Given the description of an element on the screen output the (x, y) to click on. 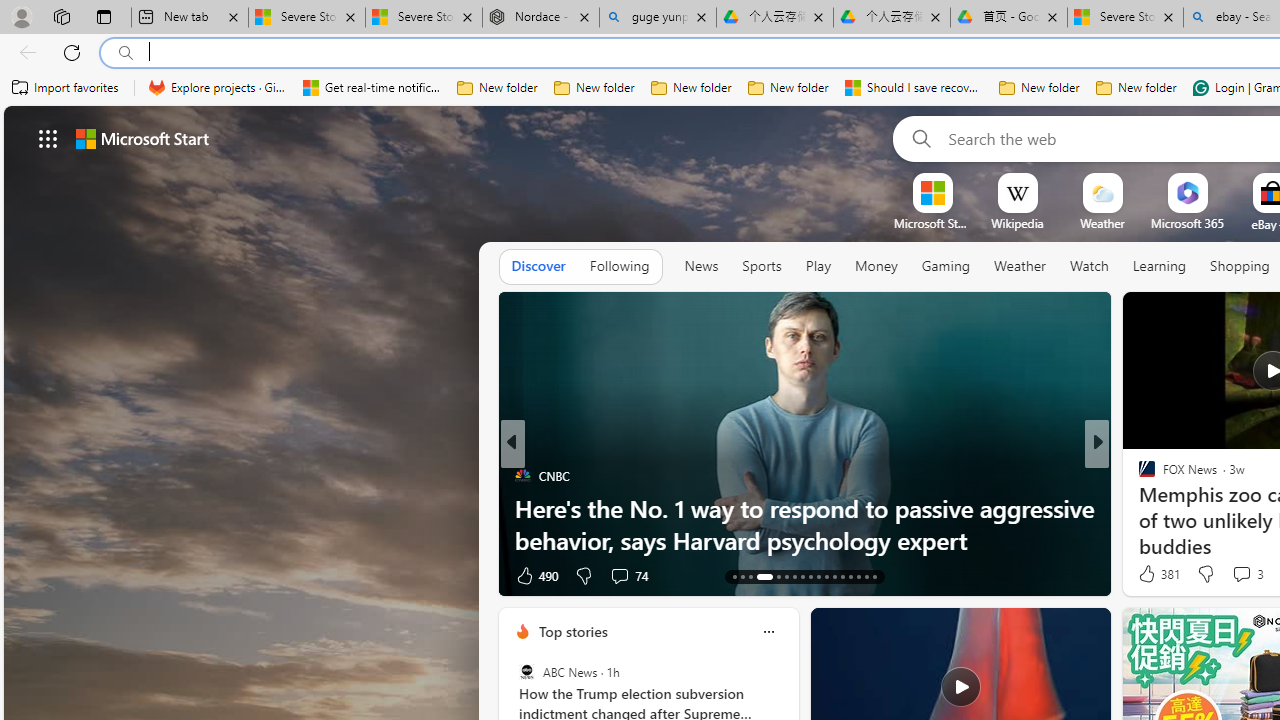
View comments 3 Comment (1241, 573)
CNN (1138, 475)
69 Like (1149, 574)
82 Like (1149, 574)
Gaming (945, 265)
Forge of Empires (1175, 507)
View comments 2 Comment (1229, 575)
Learning (1159, 267)
The Telegraph (1138, 475)
